Given the description of an element on the screen output the (x, y) to click on. 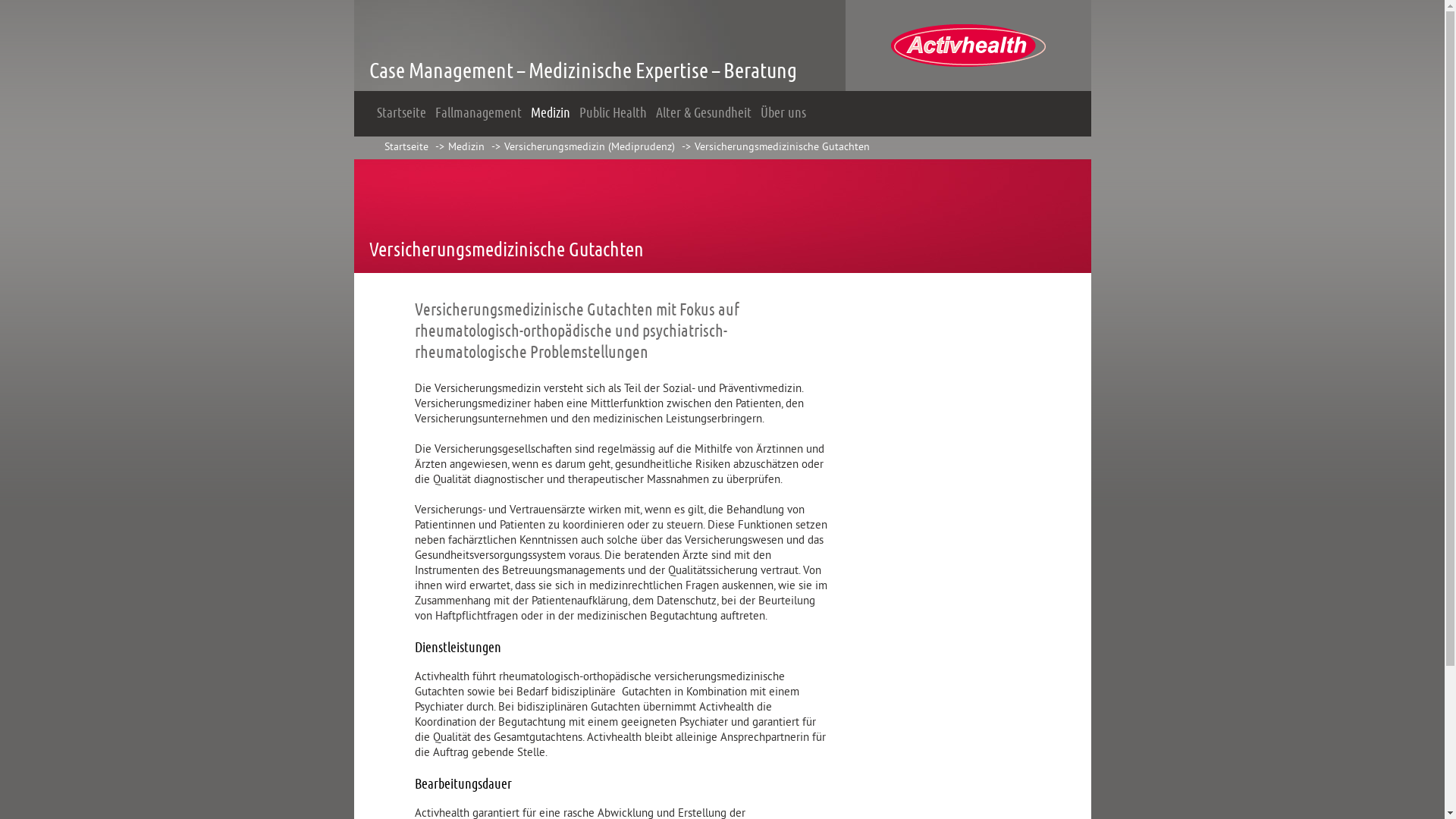
Public Health Element type: text (612, 113)
Fallmanagement Element type: text (478, 113)
Medizin Element type: text (550, 113)
Medizin Element type: text (465, 147)
Startseite Element type: text (405, 147)
Versicherungsmedizin (Mediprudenz) Element type: text (588, 147)
Logo Activhealth AG Element type: hover (967, 45)
Startseite Element type: text (400, 113)
Alter & Gesundheit Element type: text (702, 113)
Logo Activhealth AG Element type: hover (967, 88)
